Given the description of an element on the screen output the (x, y) to click on. 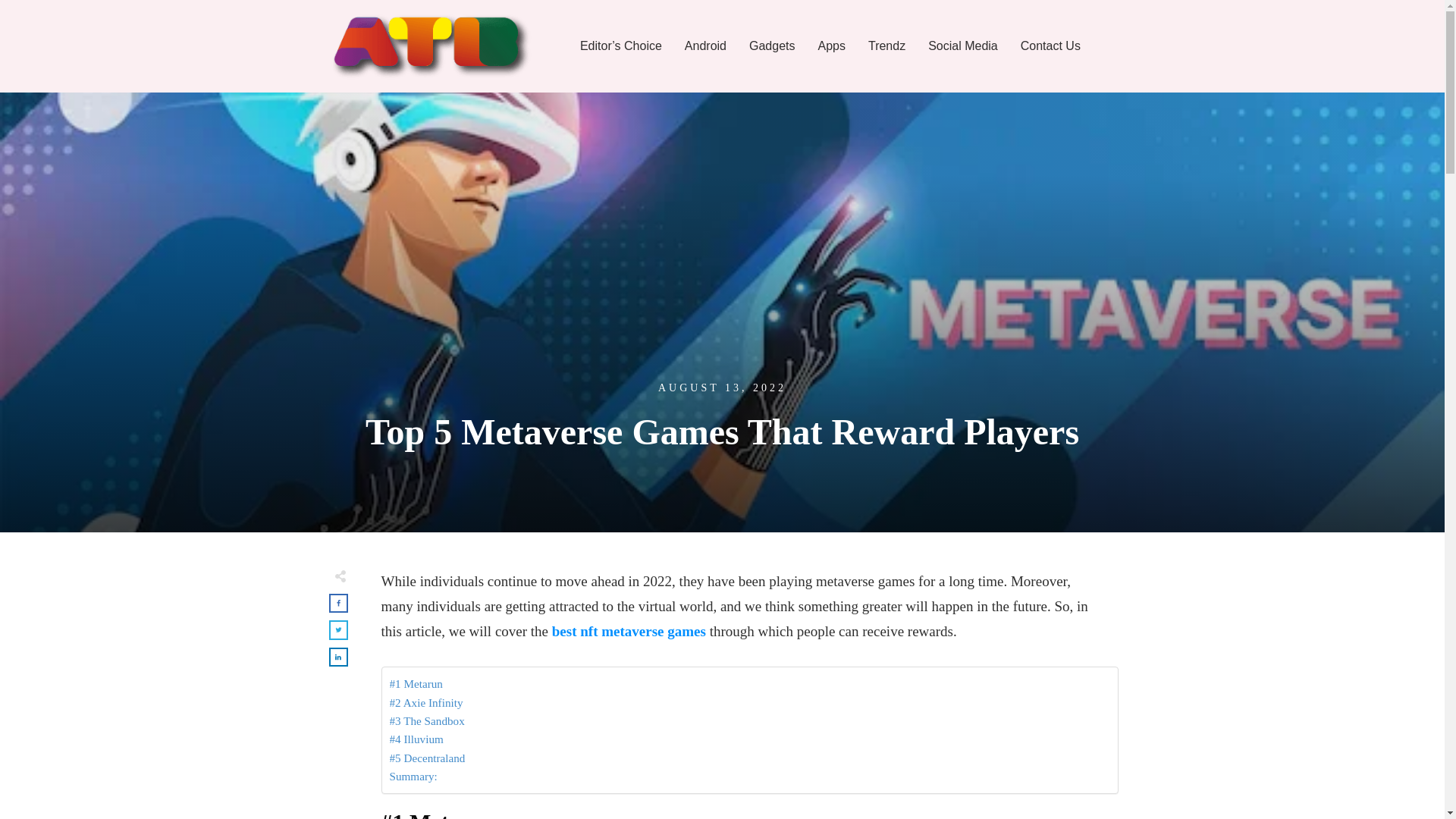
Contact Us (1050, 46)
Summary: (414, 776)
Gadgets (771, 46)
best nft metaverse games (628, 631)
Social Media (962, 46)
Trendz (886, 46)
Android (705, 46)
Summary: (414, 776)
Apps (830, 46)
